Given the description of an element on the screen output the (x, y) to click on. 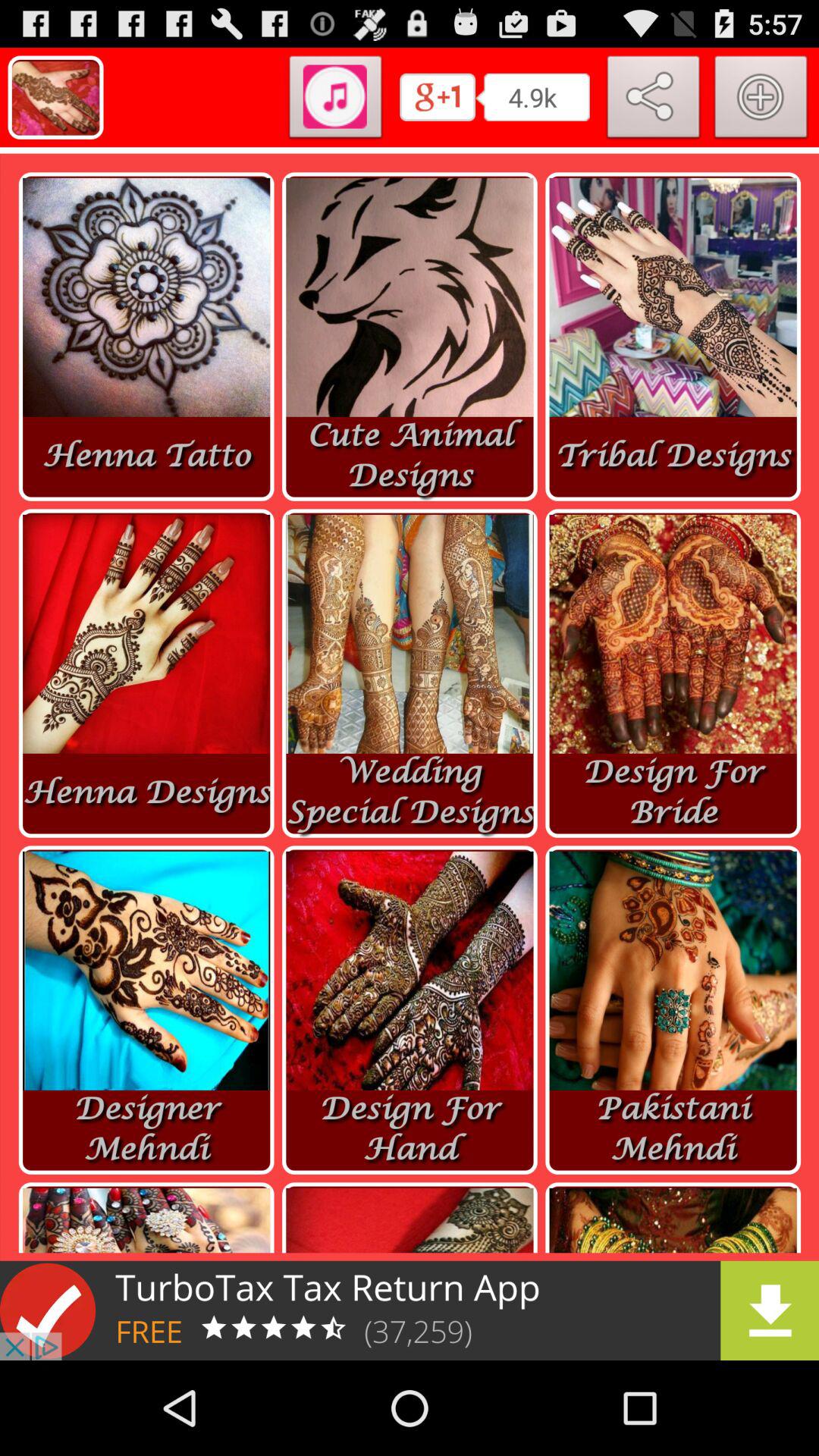
advertisement page (409, 1310)
